Given the description of an element on the screen output the (x, y) to click on. 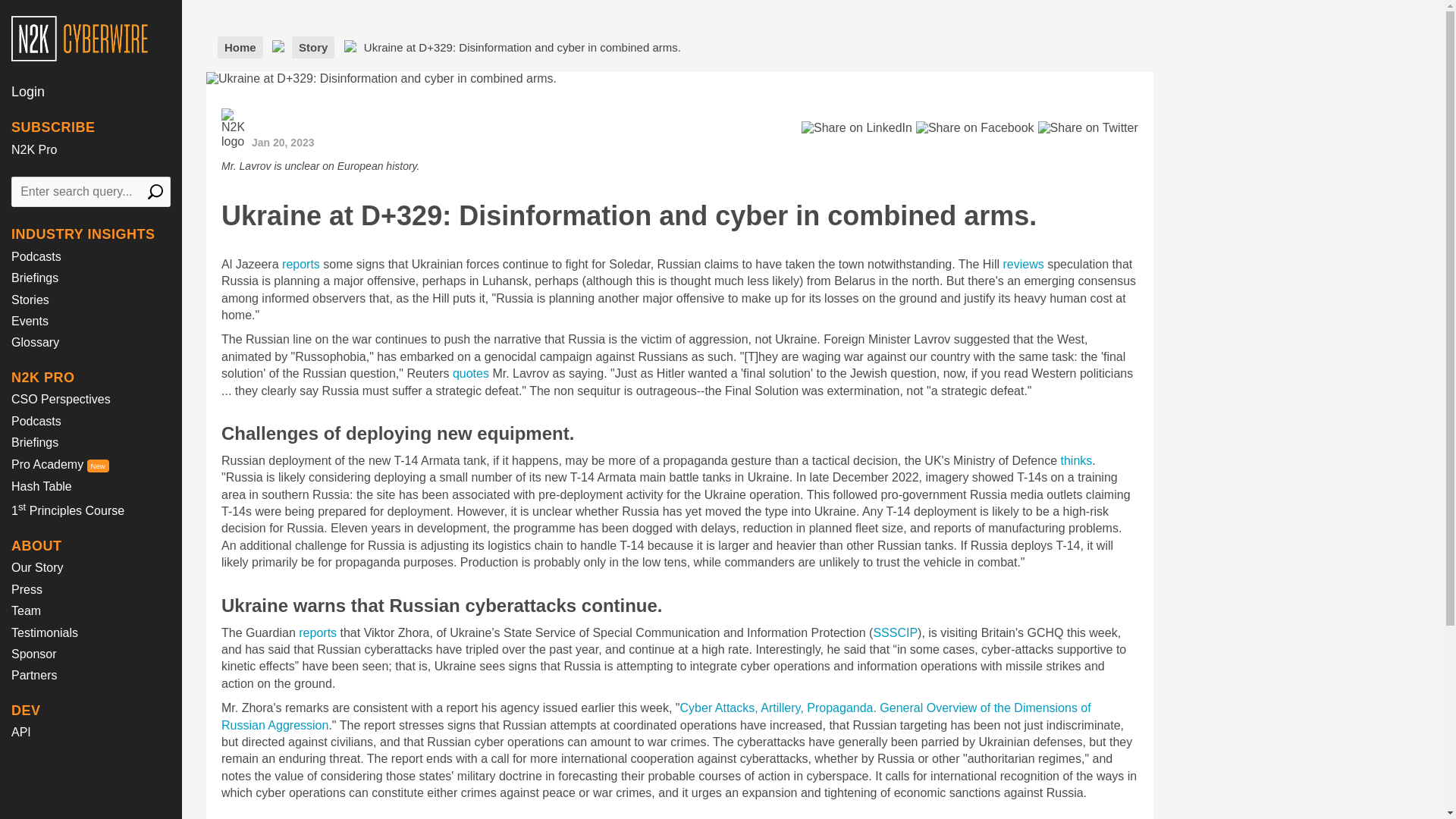
Partners (33, 675)
Briefings (34, 277)
Podcasts (36, 256)
Events (29, 320)
Our Story (36, 567)
Sponsor (33, 653)
Pro Academy New (60, 463)
Glossary (35, 341)
Press (26, 589)
Podcasts (36, 420)
